Given the description of an element on the screen output the (x, y) to click on. 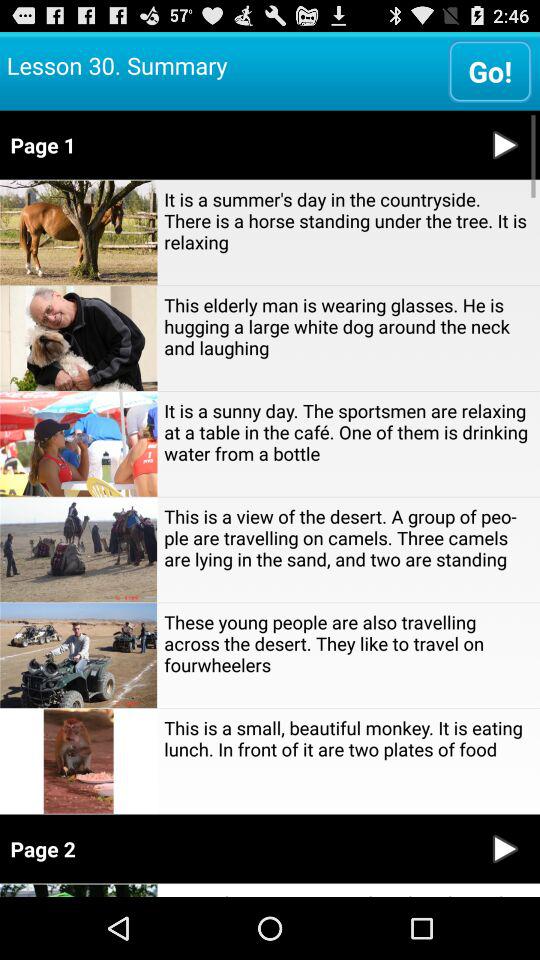
jump until go! button (490, 70)
